Given the description of an element on the screen output the (x, y) to click on. 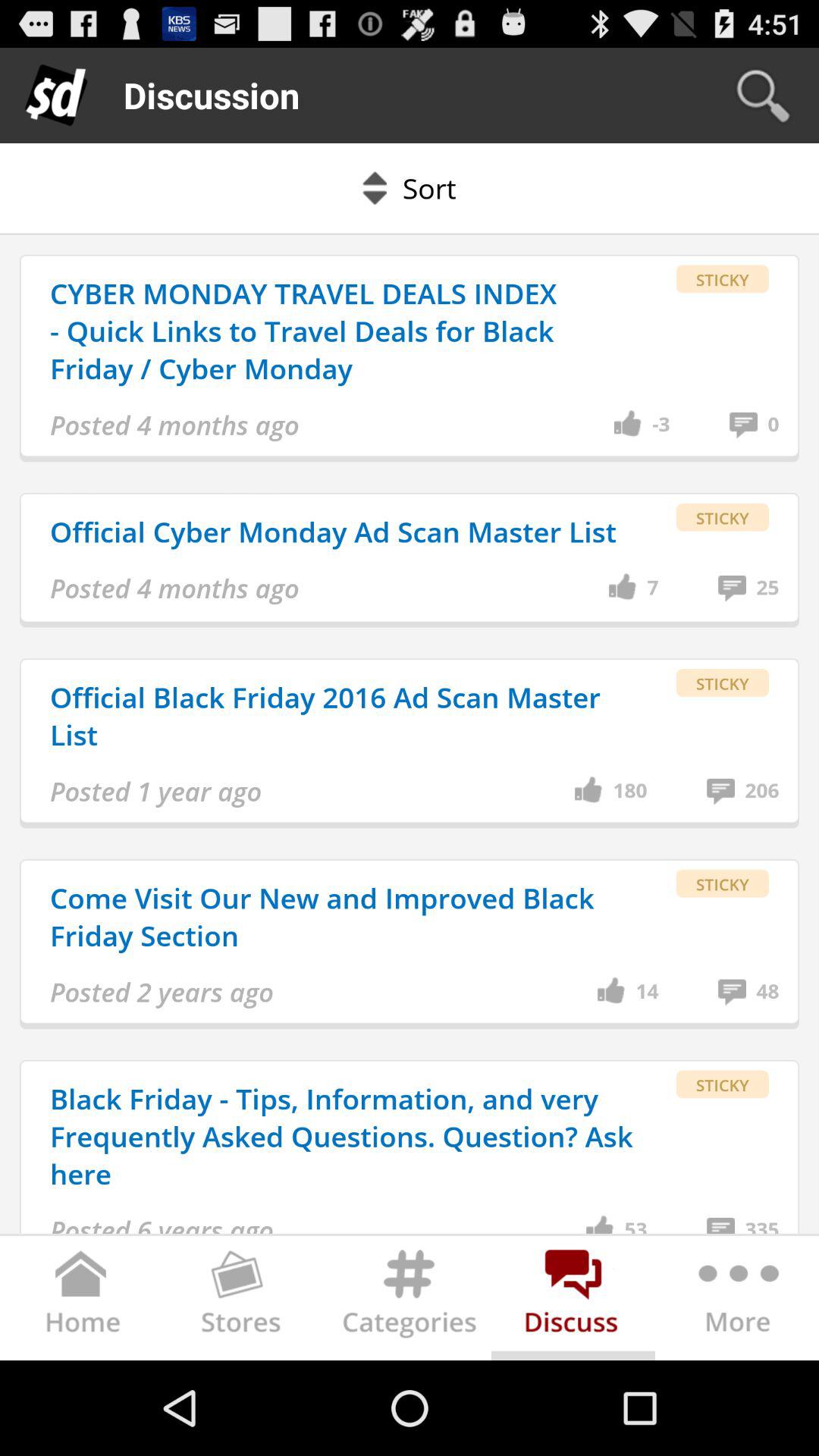
scroll until the 53 app (635, 1224)
